Given the description of an element on the screen output the (x, y) to click on. 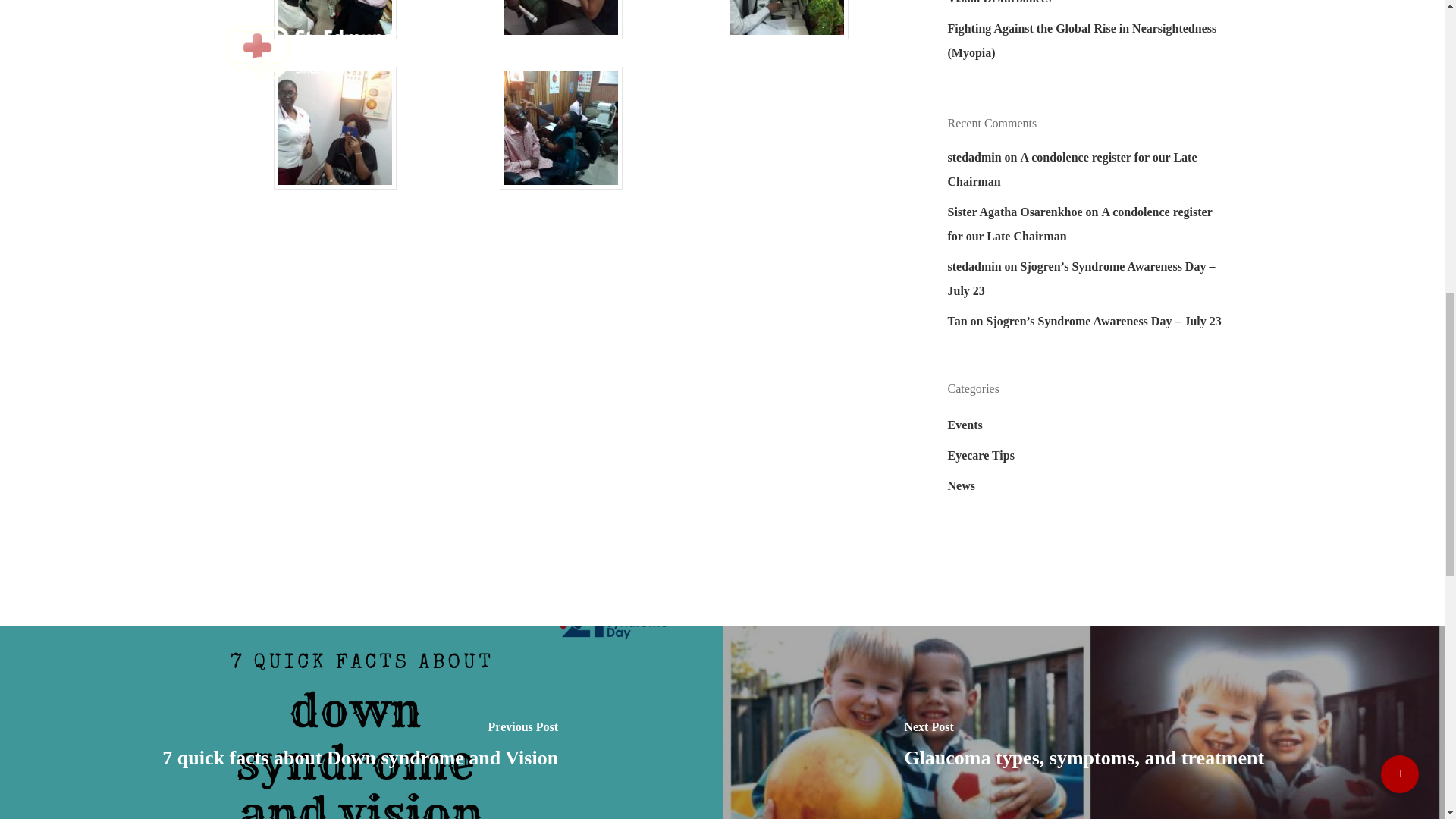
A condolence register for our Late Chairman (1079, 223)
Eyecare Tips (1085, 455)
Events (1085, 425)
News (1085, 485)
A condolence register for our Late Chairman (1071, 169)
